Given the description of an element on the screen output the (x, y) to click on. 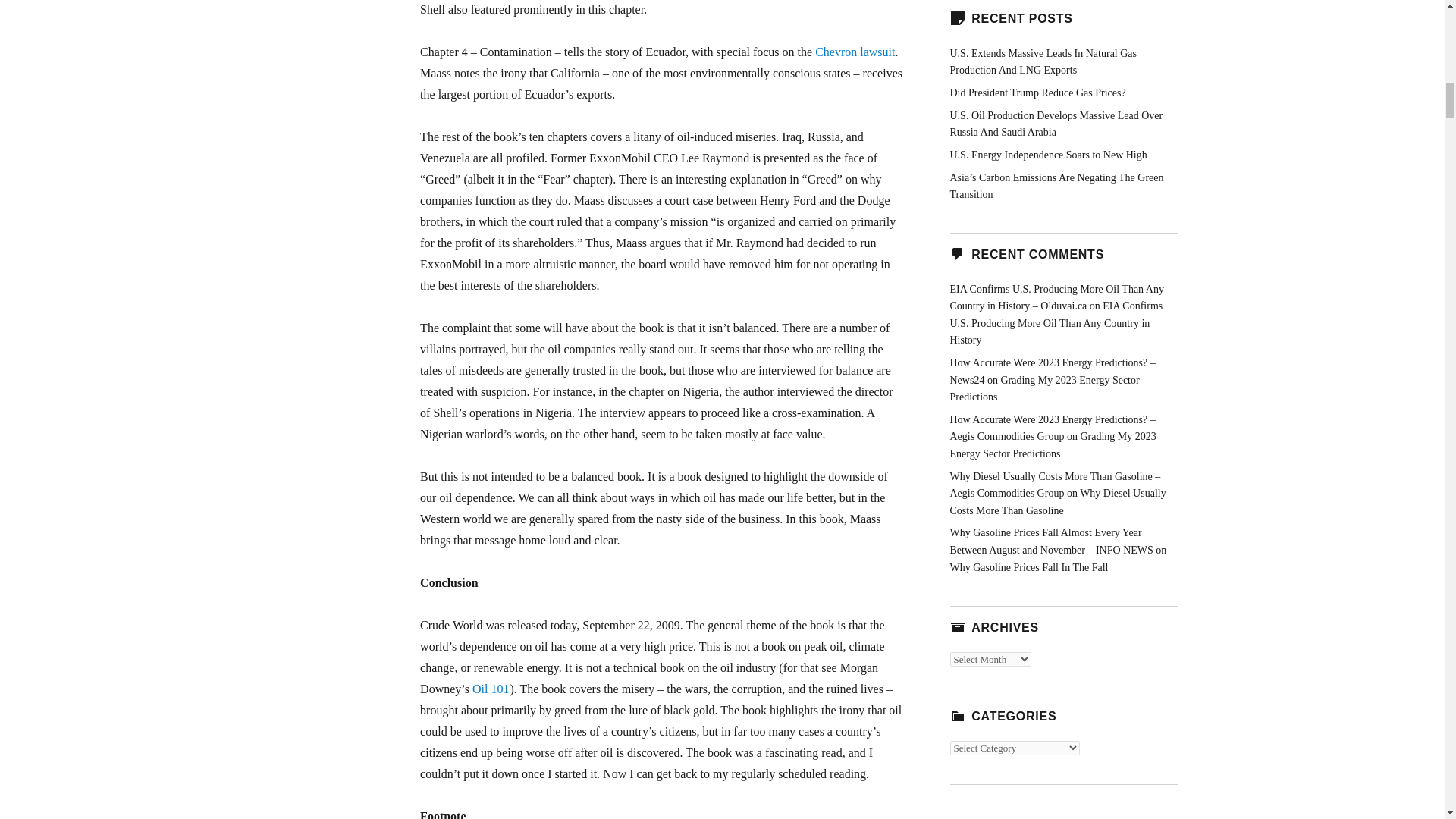
Oil 101 (489, 688)
Chevron lawsuit (855, 51)
